Given the description of an element on the screen output the (x, y) to click on. 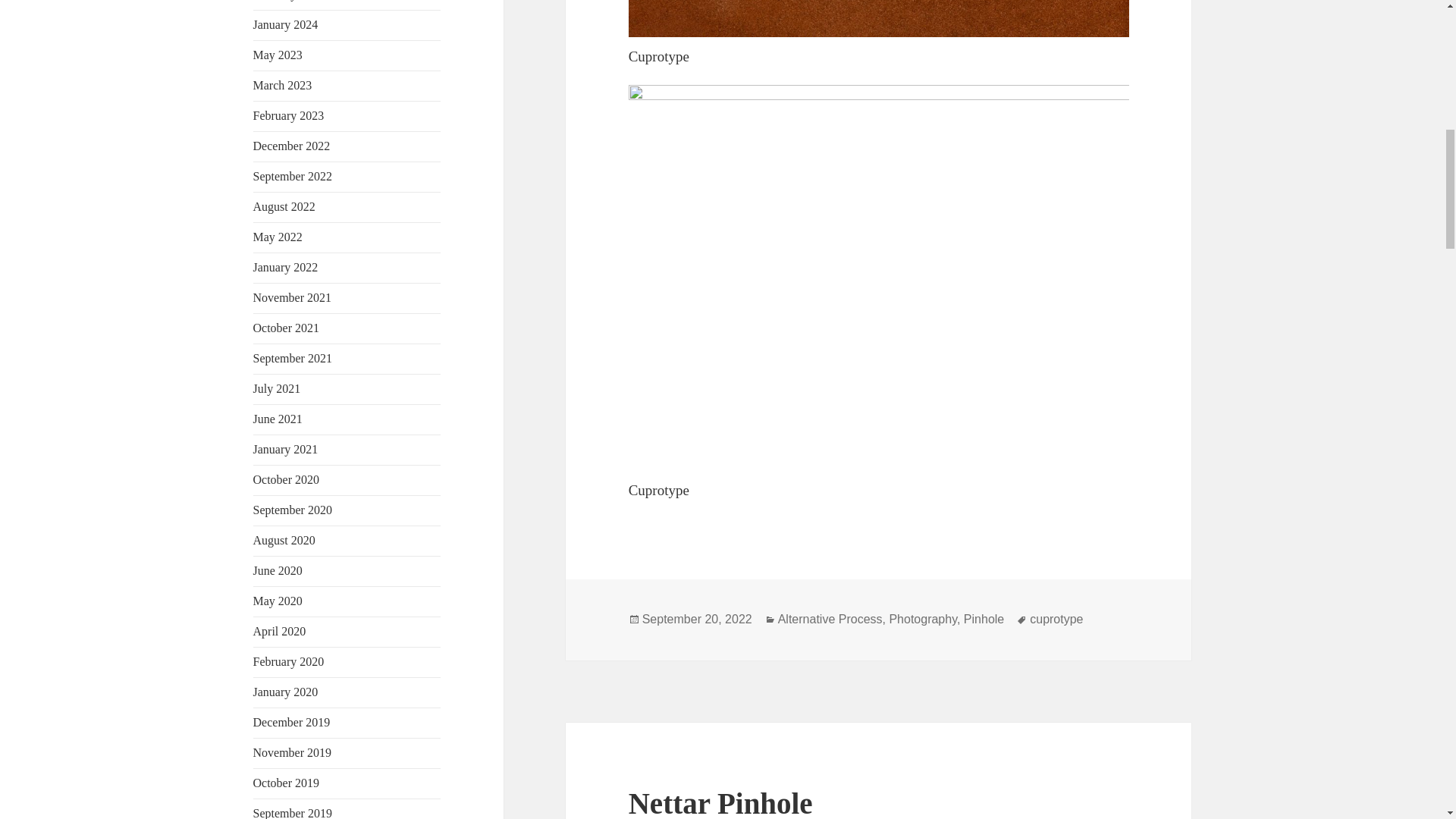
August 2020 (284, 540)
October 2020 (286, 479)
December 2019 (291, 721)
December 2022 (291, 145)
October 2021 (286, 327)
May 2020 (277, 600)
May 2022 (277, 236)
September 2022 (292, 175)
October 2019 (286, 782)
August 2022 (284, 205)
June 2021 (277, 418)
February 2023 (288, 115)
September 2019 (292, 812)
November 2021 (292, 297)
November 2019 (292, 752)
